Given the description of an element on the screen output the (x, y) to click on. 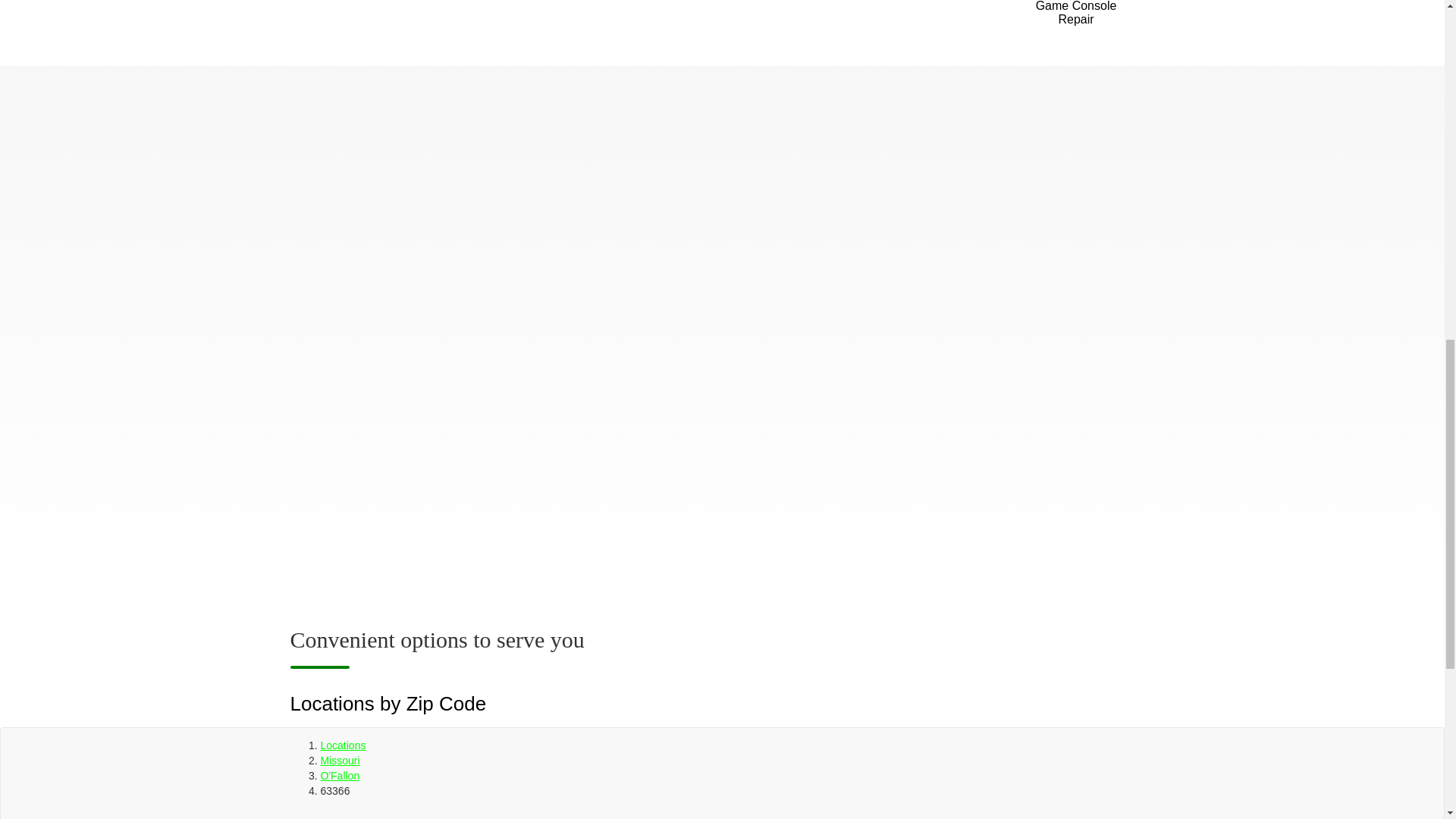
Google Repair (638, 18)
Computer Repair (921, 18)
iPhone Repair (354, 18)
Tablet Repair (780, 18)
Samsung Repair (496, 18)
Game Console Repair (1076, 18)
